Given the description of an element on the screen output the (x, y) to click on. 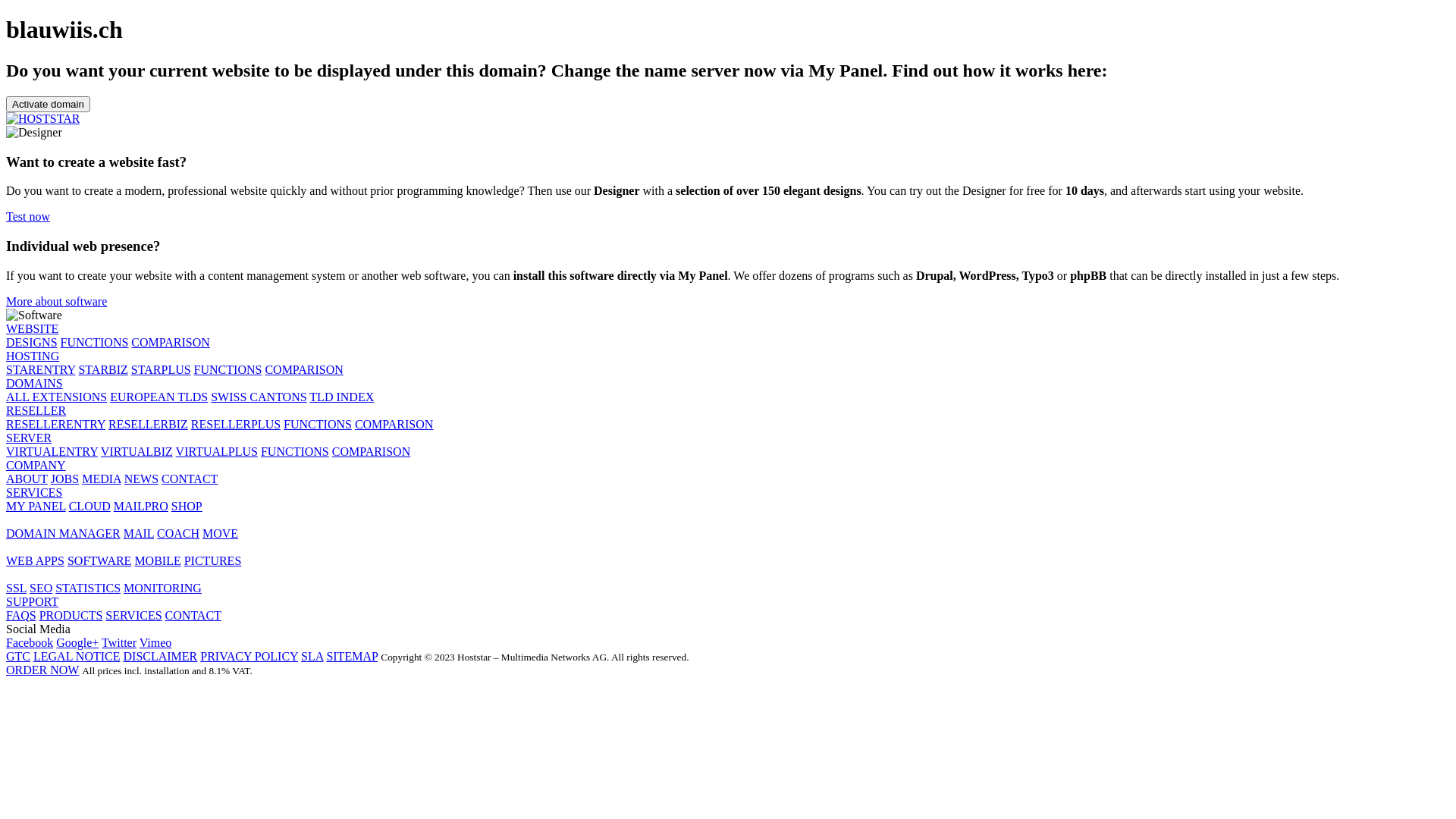
SWISS CANTONS Element type: text (258, 396)
FAQS Element type: text (21, 614)
COMPARISON Element type: text (371, 451)
VIRTUALENTRY Element type: text (51, 451)
VIRTUALPLUS Element type: text (216, 451)
SITEMAP Element type: text (351, 655)
NEWS Element type: text (141, 478)
STARENTRY Element type: text (40, 369)
STARBIZ Element type: text (102, 369)
SEO Element type: text (40, 587)
Activate domain Element type: text (48, 104)
More about software Element type: text (56, 300)
JOBS Element type: text (64, 478)
COMPANY Element type: text (35, 464)
Vimeo Element type: text (155, 642)
SSL Element type: text (16, 587)
MAILPRO Element type: text (140, 505)
Test now Element type: text (28, 216)
FUNCTIONS Element type: text (94, 341)
TLD INDEX Element type: text (341, 396)
CONTACT Element type: text (193, 614)
MEDIA Element type: text (101, 478)
FUNCTIONS Element type: text (294, 451)
Facebook Element type: text (29, 642)
PICTURES Element type: text (212, 560)
ALL EXTENSIONS Element type: text (56, 396)
FUNCTIONS Element type: text (228, 369)
SOFTWARE Element type: text (99, 560)
Twitter Element type: text (118, 642)
RESELLERBIZ Element type: text (148, 423)
DOMAINS Element type: text (34, 382)
WEB APPS Element type: text (35, 560)
DESIGNS Element type: text (31, 341)
VIRTUALBIZ Element type: text (136, 451)
DOMAIN MANAGER Element type: text (63, 533)
MY PANEL Element type: text (35, 505)
RESELLERPLUS Element type: text (235, 423)
DISCLAIMER Element type: text (159, 655)
RESELLERENTRY Element type: text (55, 423)
GTC Element type: text (18, 655)
COMPARISON Element type: text (170, 341)
Activate domain Element type: text (48, 103)
ORDER NOW Element type: text (42, 669)
SHOP Element type: text (186, 505)
STARPLUS Element type: text (161, 369)
SLA Element type: text (312, 655)
MONITORING Element type: text (162, 587)
PRIVACY POLICY Element type: text (249, 655)
Google+ Element type: text (77, 642)
SUPPORT Element type: text (32, 601)
SERVER Element type: text (28, 437)
CLOUD Element type: text (89, 505)
WEBSITE Element type: text (32, 328)
HOSTING Element type: text (32, 355)
MOBILE Element type: text (157, 560)
SERVICES Element type: text (133, 614)
CONTACT Element type: text (189, 478)
FUNCTIONS Element type: text (317, 423)
COMPARISON Element type: text (393, 423)
LEGAL NOTICE Element type: text (76, 655)
RESELLER Element type: text (35, 410)
MOVE Element type: text (220, 533)
EUROPEAN TLDS Element type: text (158, 396)
COACH Element type: text (177, 533)
MAIL Element type: text (138, 533)
COMPARISON Element type: text (303, 369)
PRODUCTS Element type: text (71, 614)
SERVICES Element type: text (34, 492)
ABOUT Element type: text (26, 478)
STATISTICS Element type: text (87, 587)
